Given the description of an element on the screen output the (x, y) to click on. 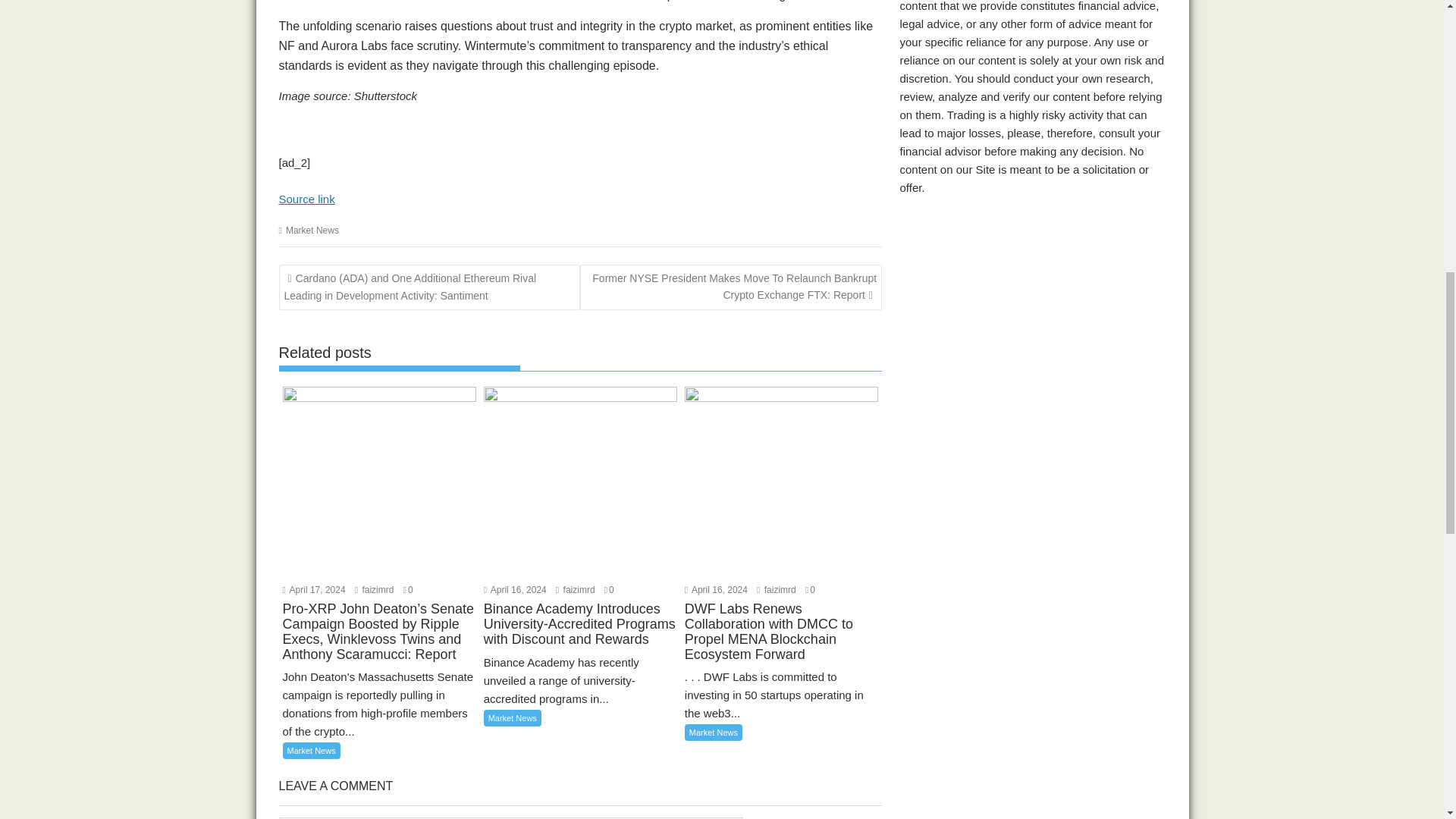
faizimrd (776, 589)
faizimrd (374, 589)
faizimrd (575, 589)
